Given the description of an element on the screen output the (x, y) to click on. 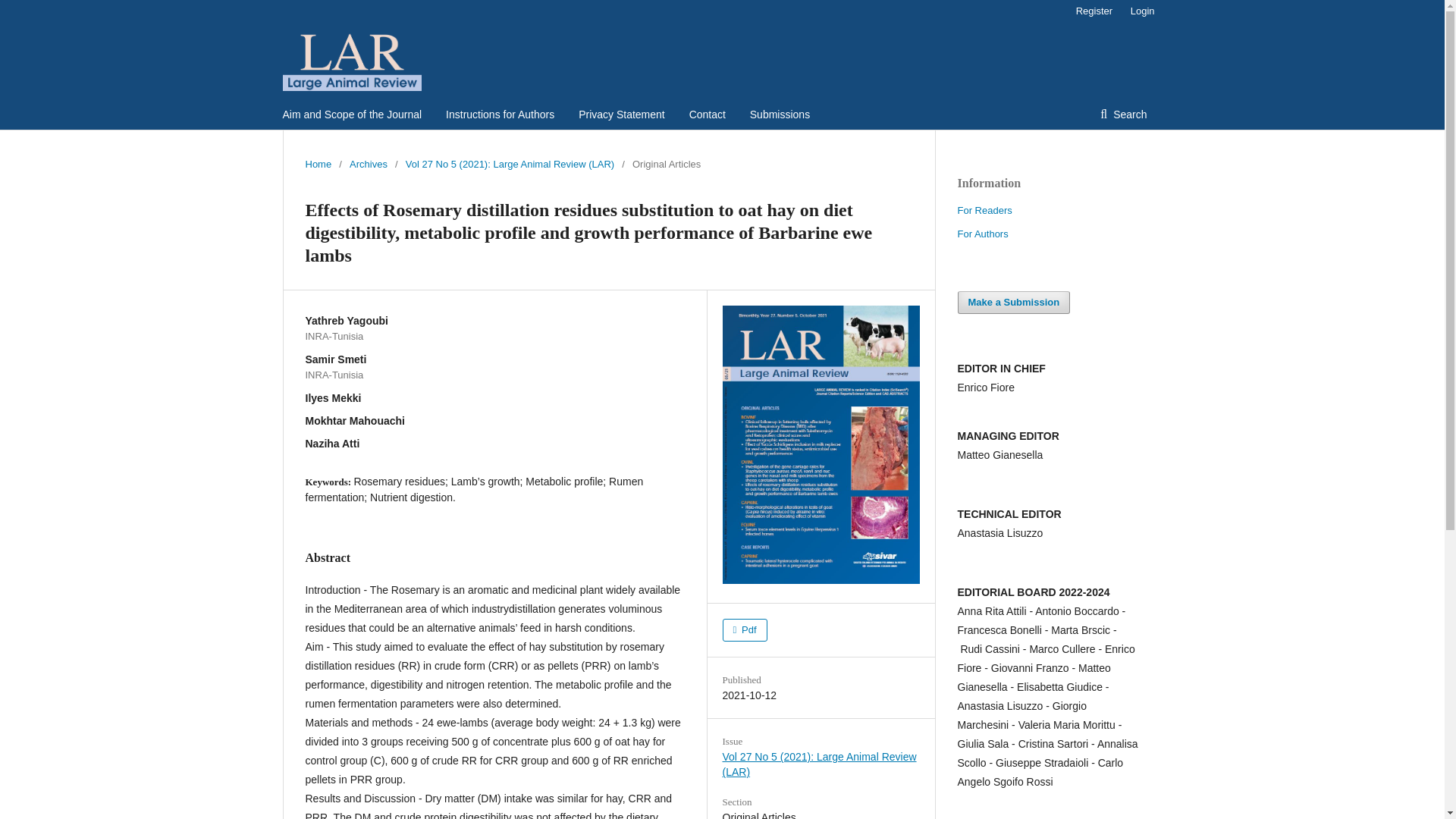
For Readers (983, 210)
Pdf (744, 630)
Register (1093, 11)
Instructions for Authors (499, 114)
Aim and Scope of the Journal (352, 114)
Make a Submission (1013, 302)
For Authors (981, 233)
Contact (706, 114)
Search (1122, 114)
Archives (368, 164)
